Given the description of an element on the screen output the (x, y) to click on. 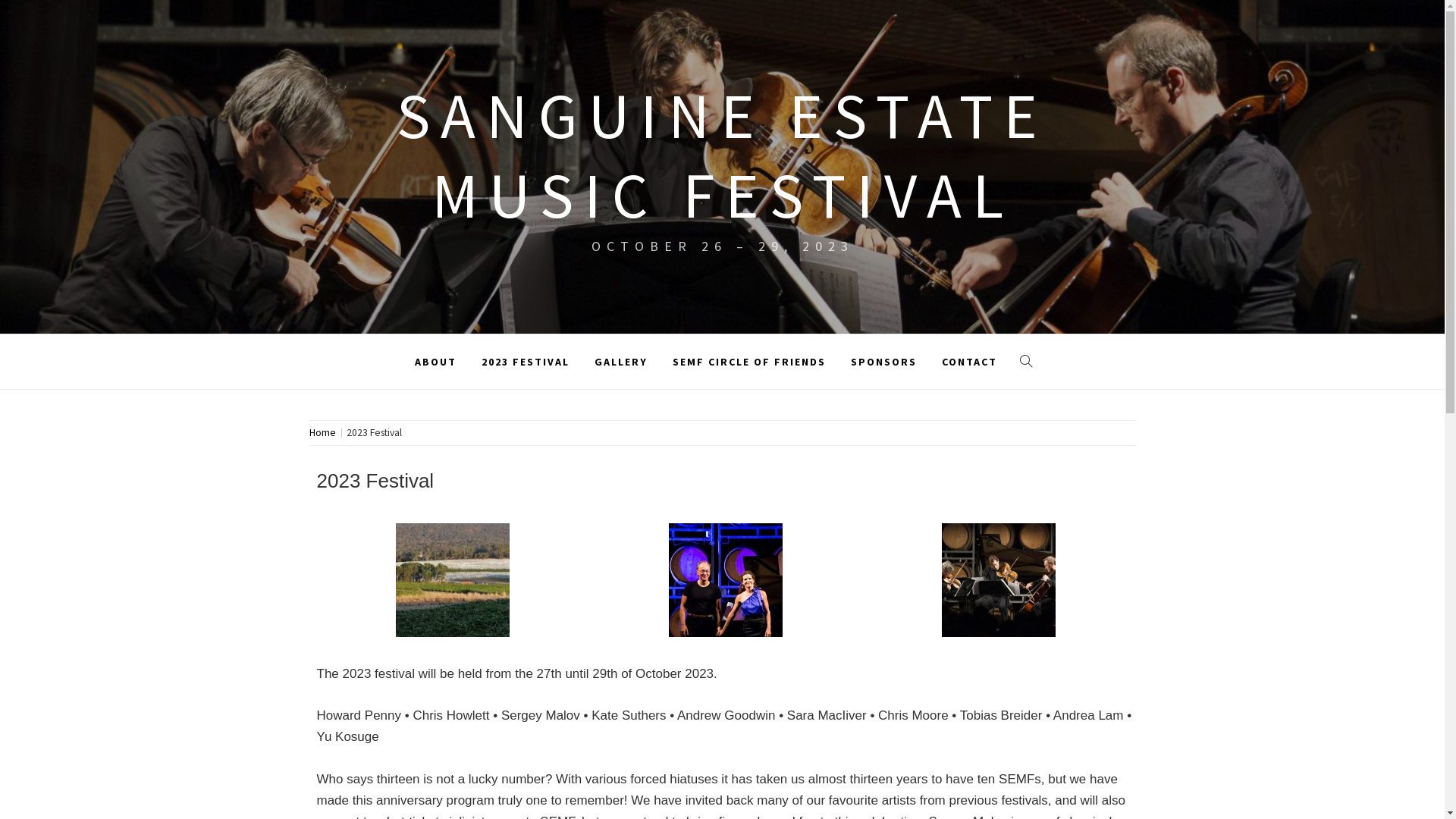
CONTACT Element type: text (969, 361)
SEMF CIRCLE OF FRIENDS Element type: text (749, 361)
ABOUT Element type: text (435, 361)
2023 FESTIVAL Element type: text (525, 361)
SPONSORS Element type: text (883, 361)
GALLERY Element type: text (620, 361)
SANGUINE ESTATE MUSIC FESTIVAL Element type: text (722, 155)
Home Element type: text (325, 432)
Search Element type: text (645, 37)
